Given the description of an element on the screen output the (x, y) to click on. 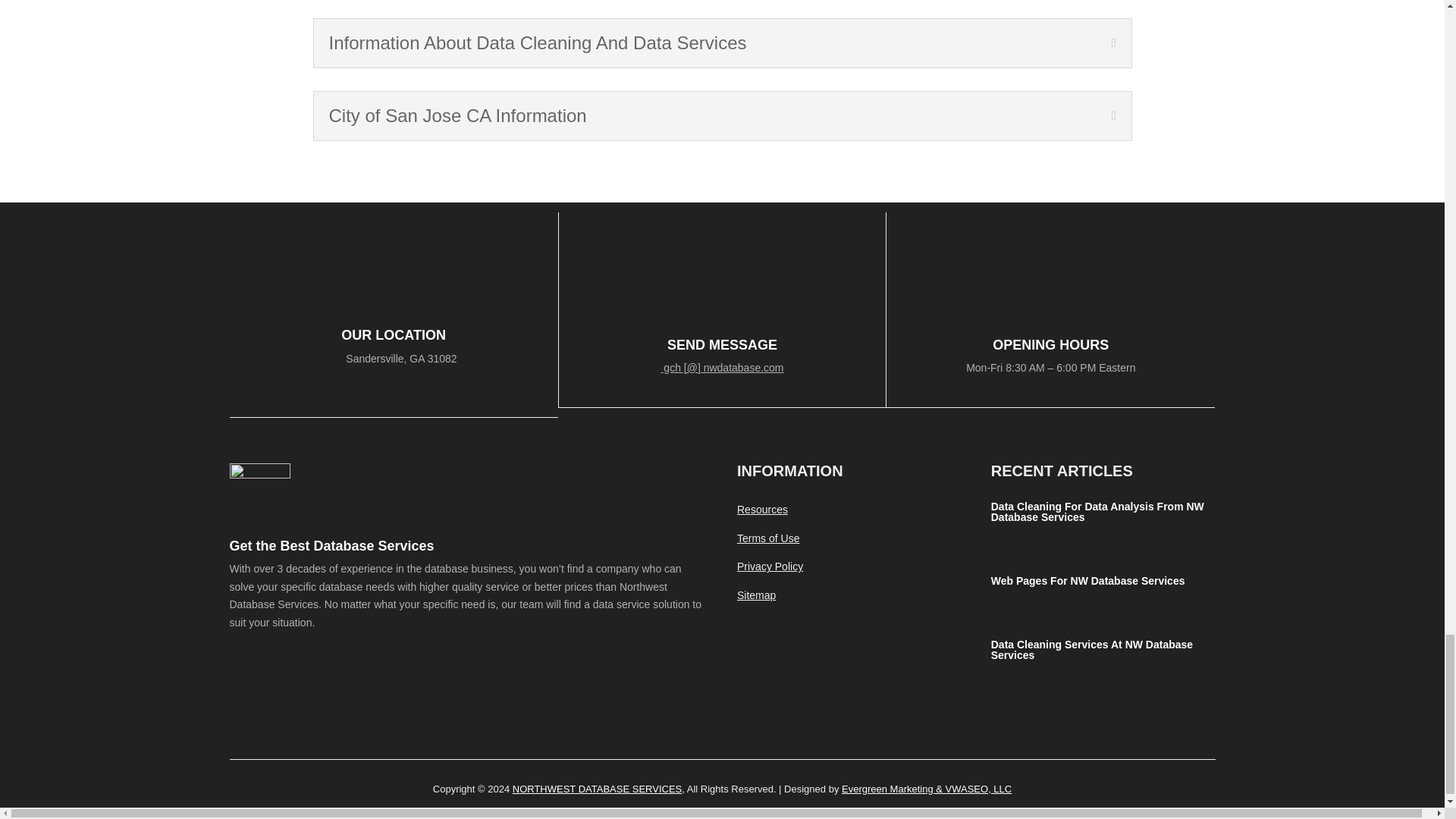
Terms of Use NW Database (767, 538)
Terms of Use (767, 538)
Sitemap for web pages for NW Database Services (756, 594)
Sitemap (756, 594)
NORTHWEST DATABASE SERVICES (596, 788)
Privacy Policy NW Database (769, 566)
Data Cleaning For Data Analysis From NW Database Services (1097, 511)
Privacy Policy (769, 566)
Northwest Database Services (596, 788)
Web Pages For NW Database Services (1088, 580)
Resources (761, 509)
Data Cleaning Services At NW Database Services (1091, 649)
logo-80x80 (258, 493)
